Given the description of an element on the screen output the (x, y) to click on. 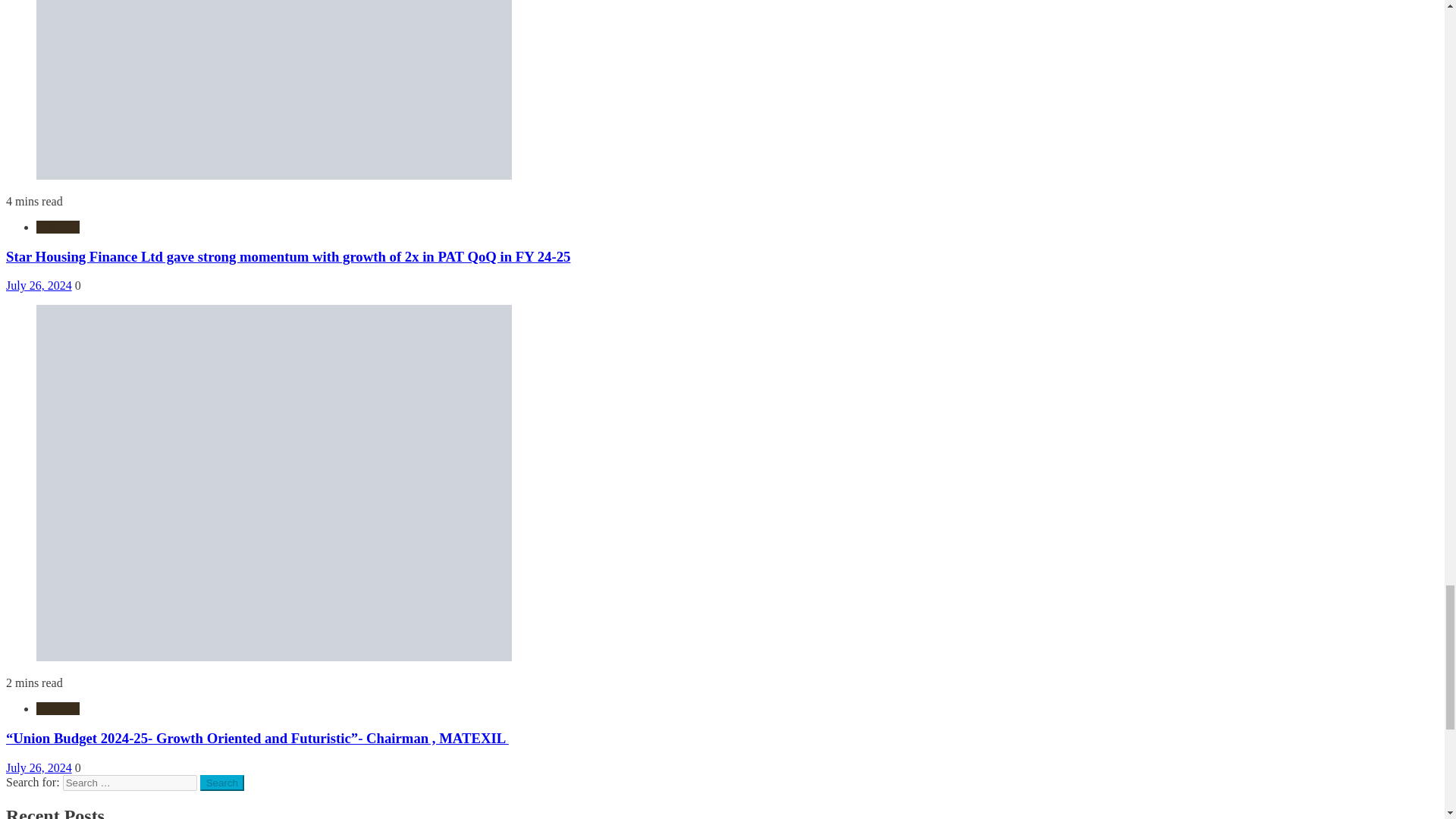
Business (58, 707)
July 26, 2024 (38, 767)
Search (222, 782)
Search (222, 782)
July 26, 2024 (38, 285)
Search (222, 782)
Business (58, 226)
